Given the description of an element on the screen output the (x, y) to click on. 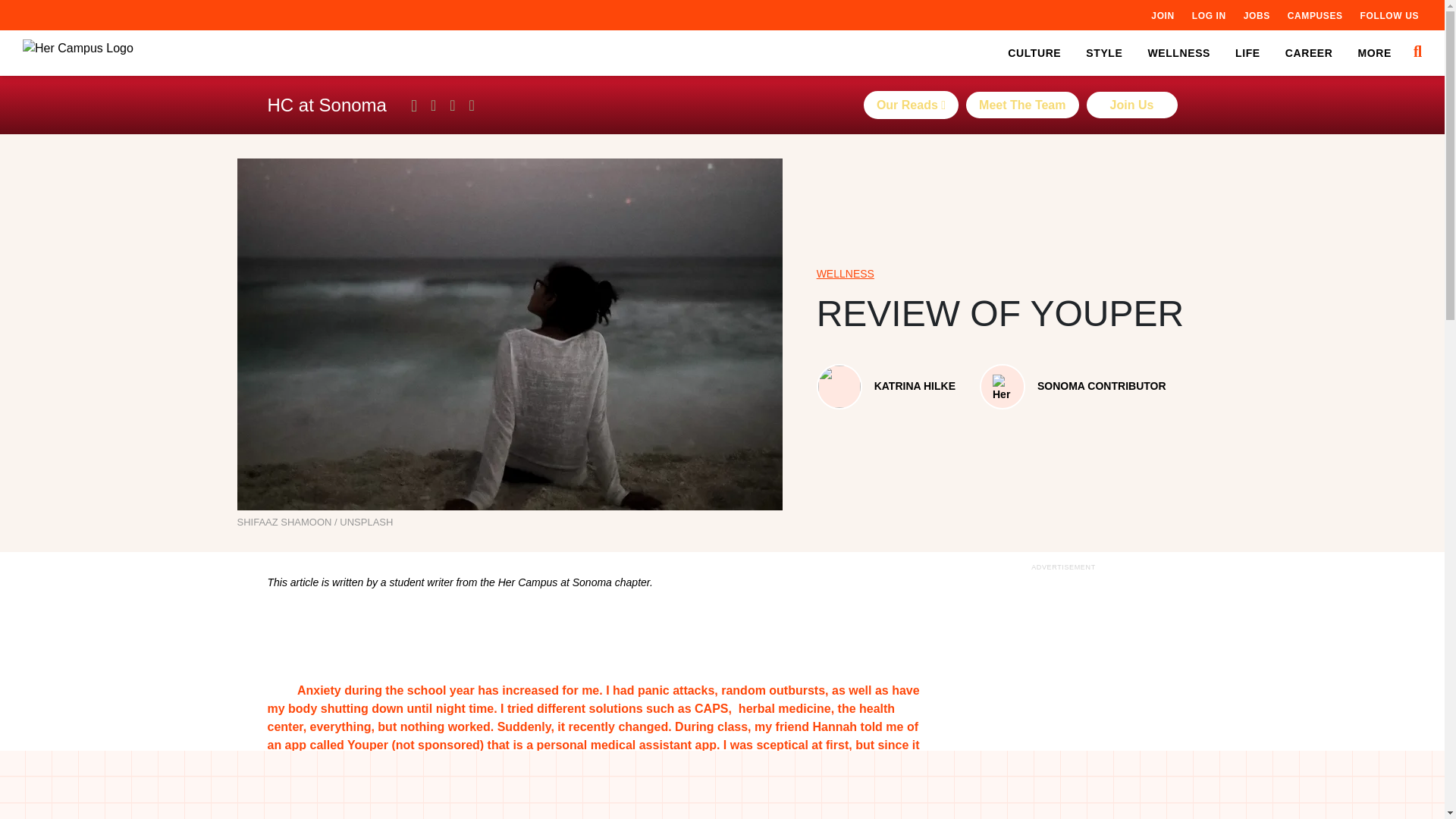
JOBS (1256, 15)
JOIN (1162, 15)
CAMPUSES (1314, 15)
LOG IN (1208, 15)
